Given the description of an element on the screen output the (x, y) to click on. 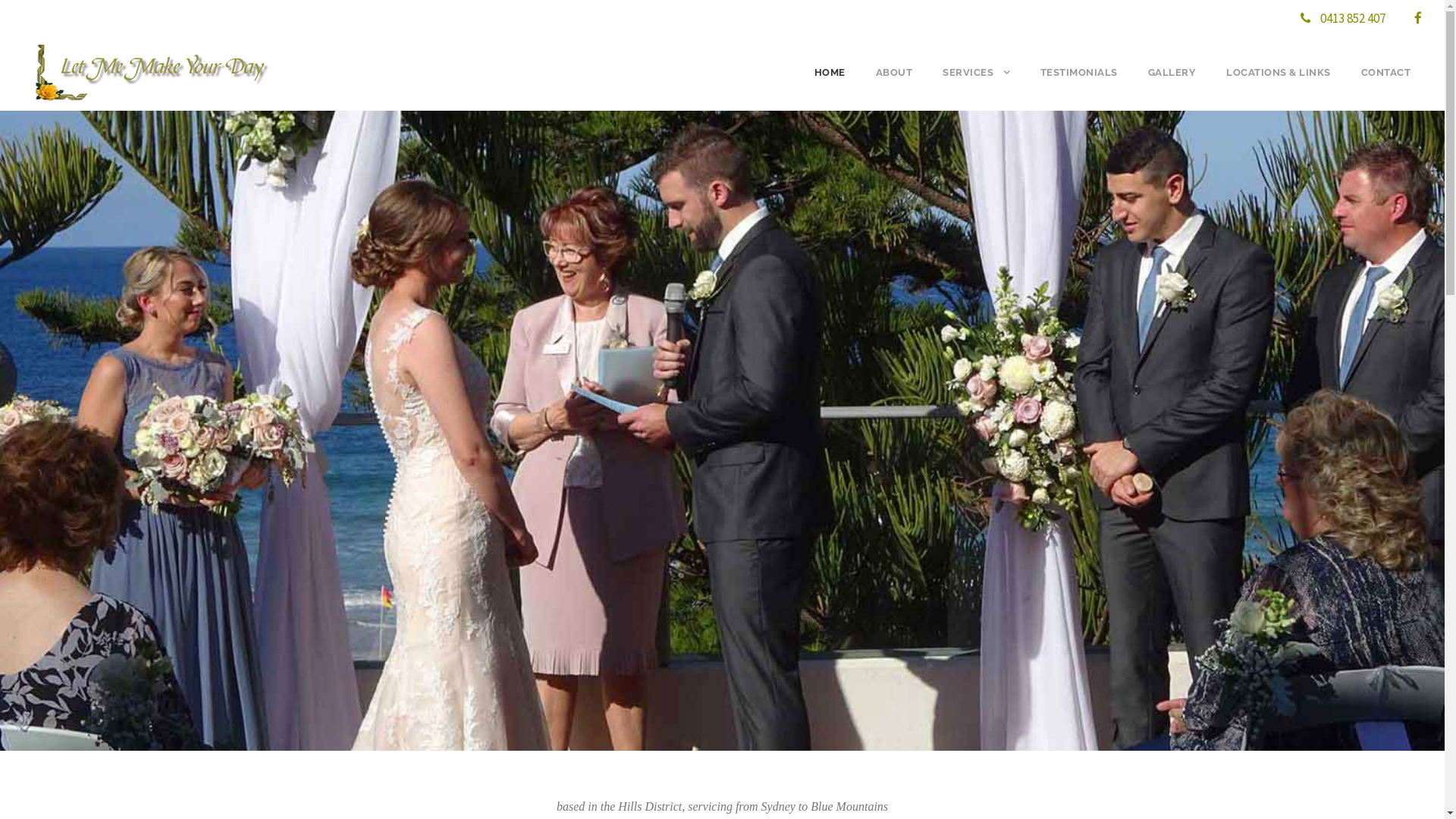
CONTACT Element type: text (1385, 85)
GALLERY Element type: text (1172, 85)
0413 852 407 Element type: text (1352, 17)
HOME Element type: text (829, 85)
facebook Element type: hover (1417, 17)
let me make your day logo Element type: hover (151, 72)
TESTIMONIALS Element type: text (1078, 85)
LOCATIONS & LINKS Element type: text (1278, 85)
SERVICES Element type: text (976, 85)
ABOUT Element type: text (893, 85)
